Given the description of an element on the screen output the (x, y) to click on. 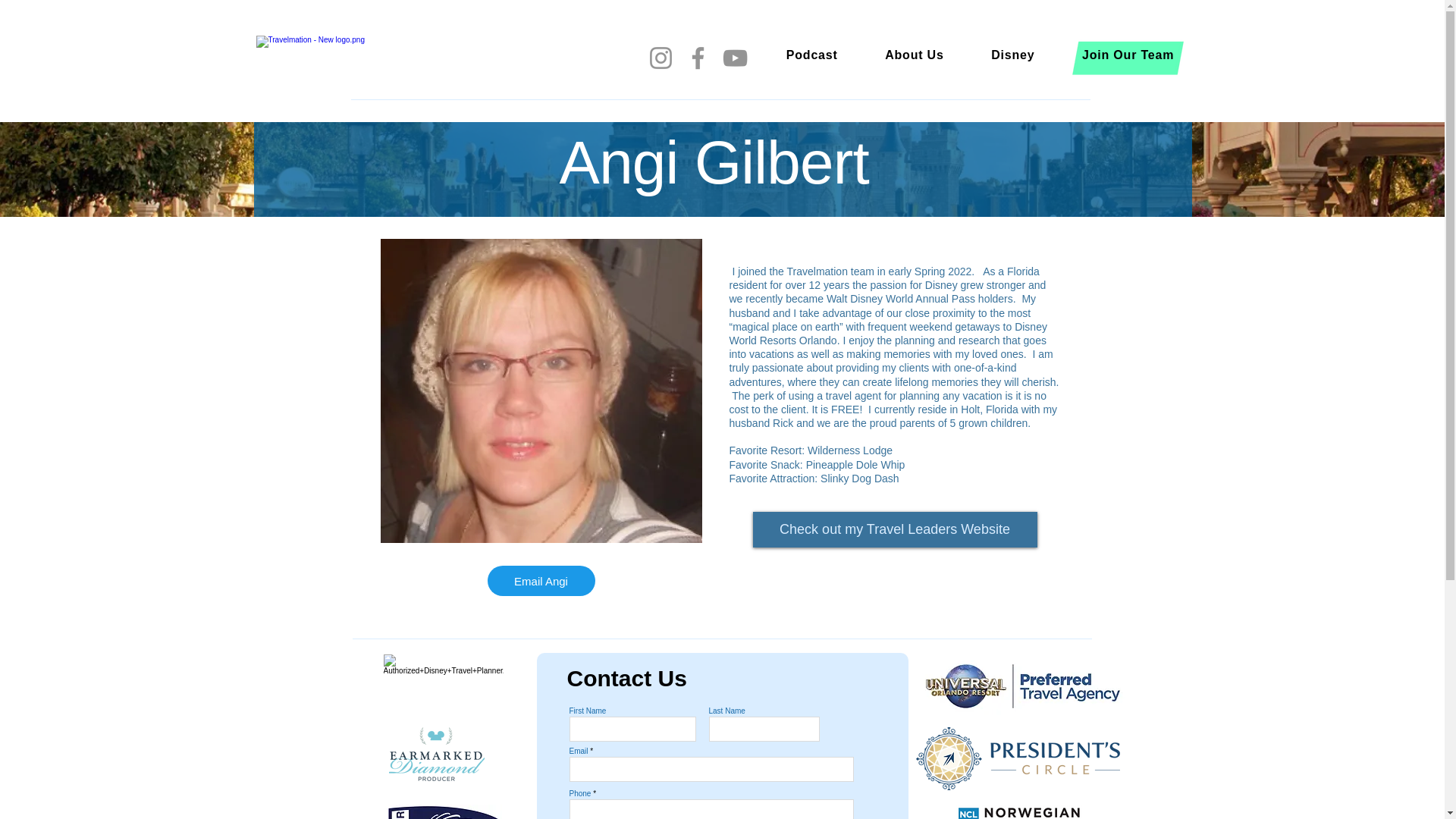
Join Our Team (1127, 54)
Email Angi (540, 580)
Podcast (812, 54)
About Us (914, 54)
